Given the description of an element on the screen output the (x, y) to click on. 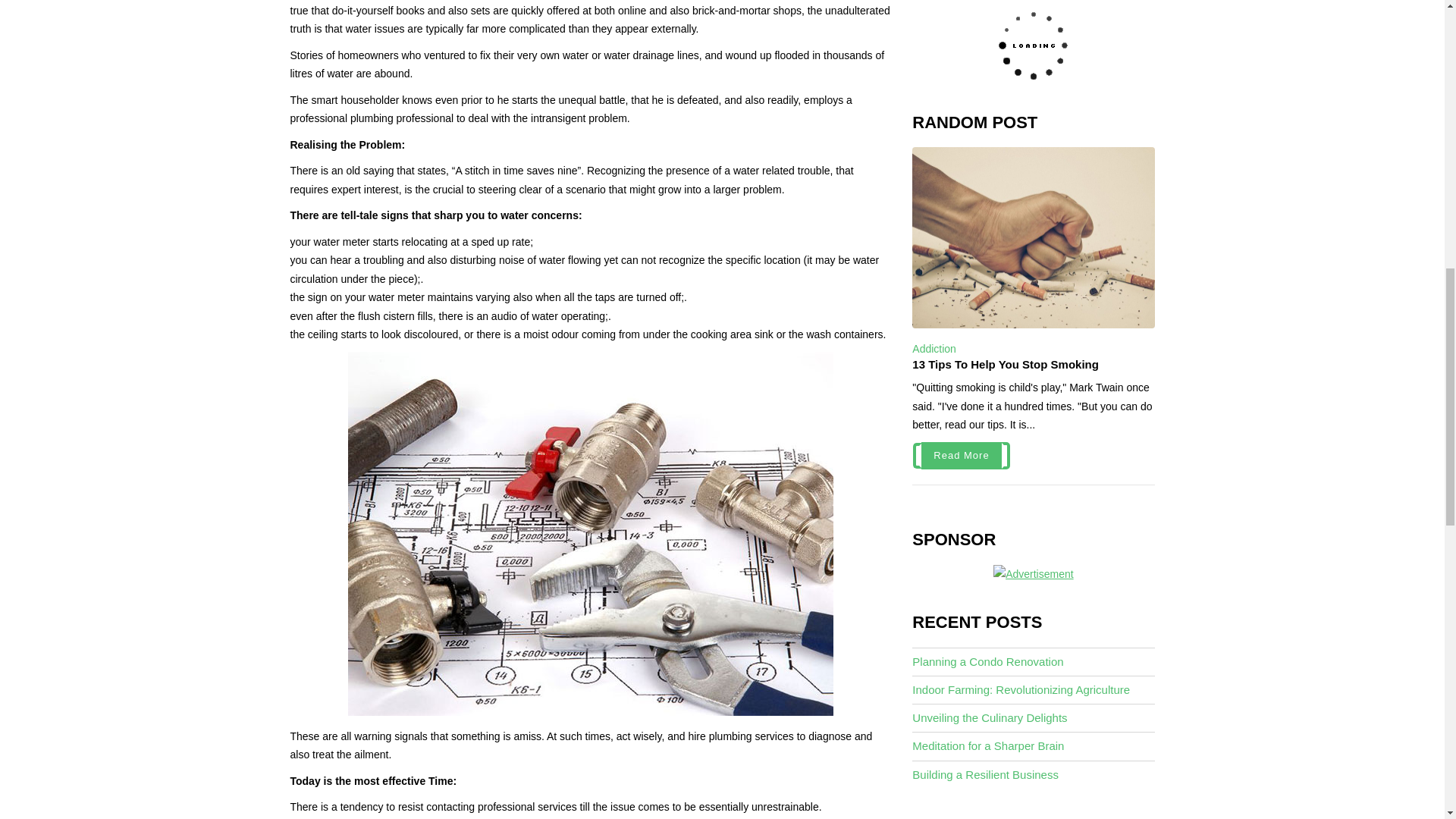
Addiction (934, 348)
13 Tips To Help You Stop Smoking (1005, 364)
Read More (960, 455)
